Given the description of an element on the screen output the (x, y) to click on. 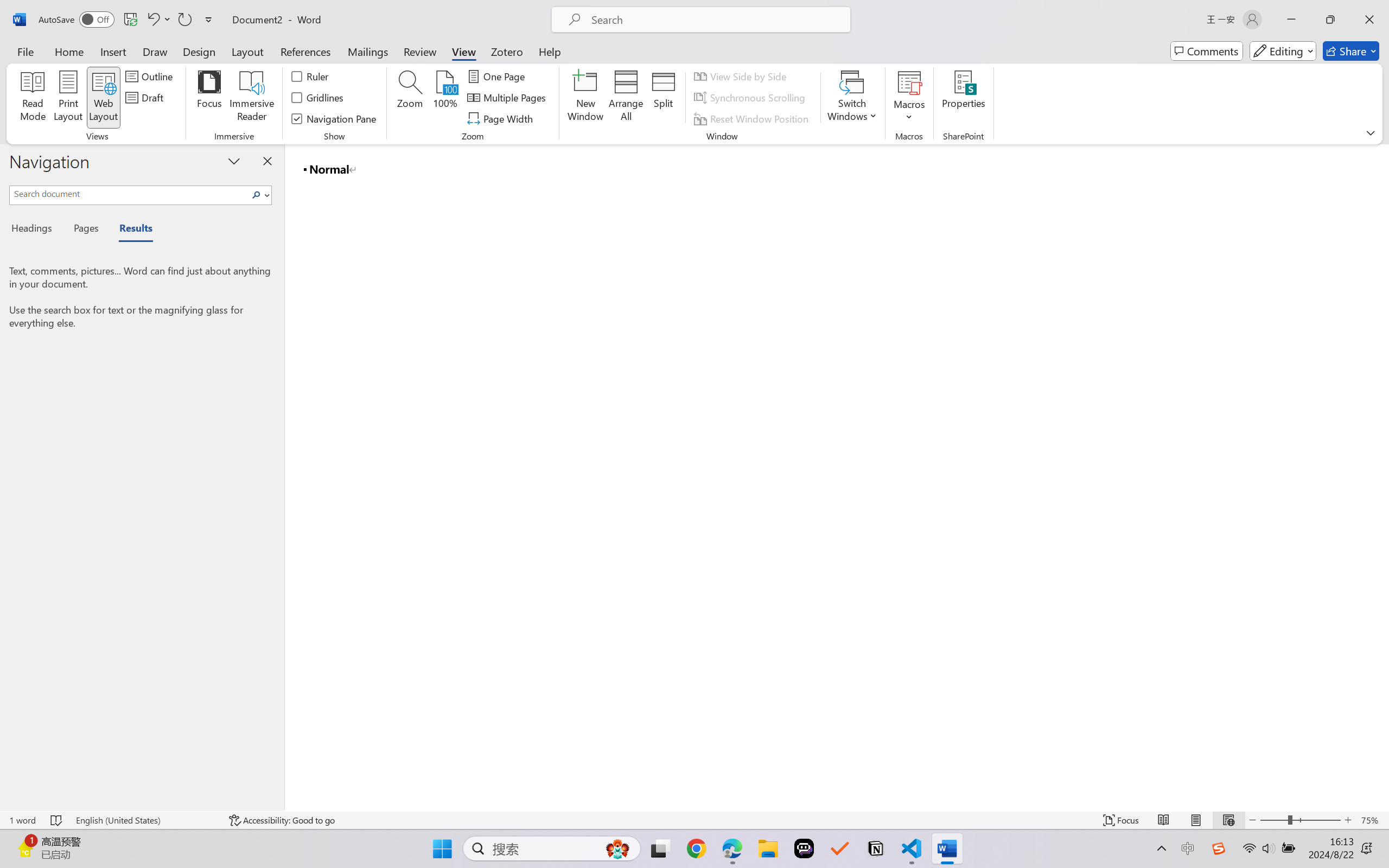
Multiple Pages (507, 97)
Language English (United States) (144, 819)
Draft (146, 97)
Mailings (367, 51)
Zoom (1300, 819)
Microsoft search (715, 19)
Headings (35, 229)
View Side by Side (741, 75)
View Macros (909, 81)
Arrange All (625, 97)
